Given the description of an element on the screen output the (x, y) to click on. 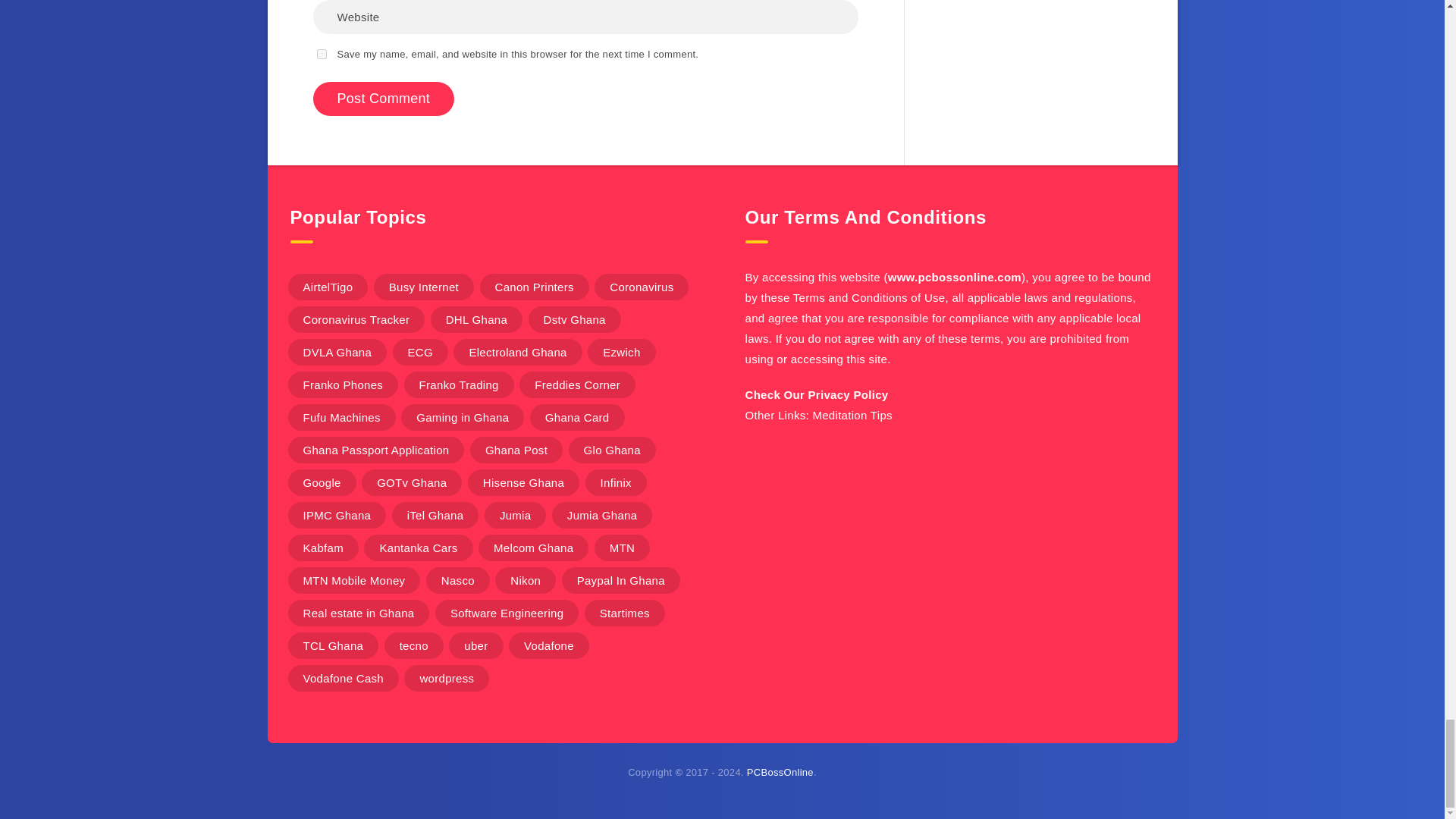
Post Comment (383, 98)
yes (321, 53)
